Given the description of an element on the screen output the (x, y) to click on. 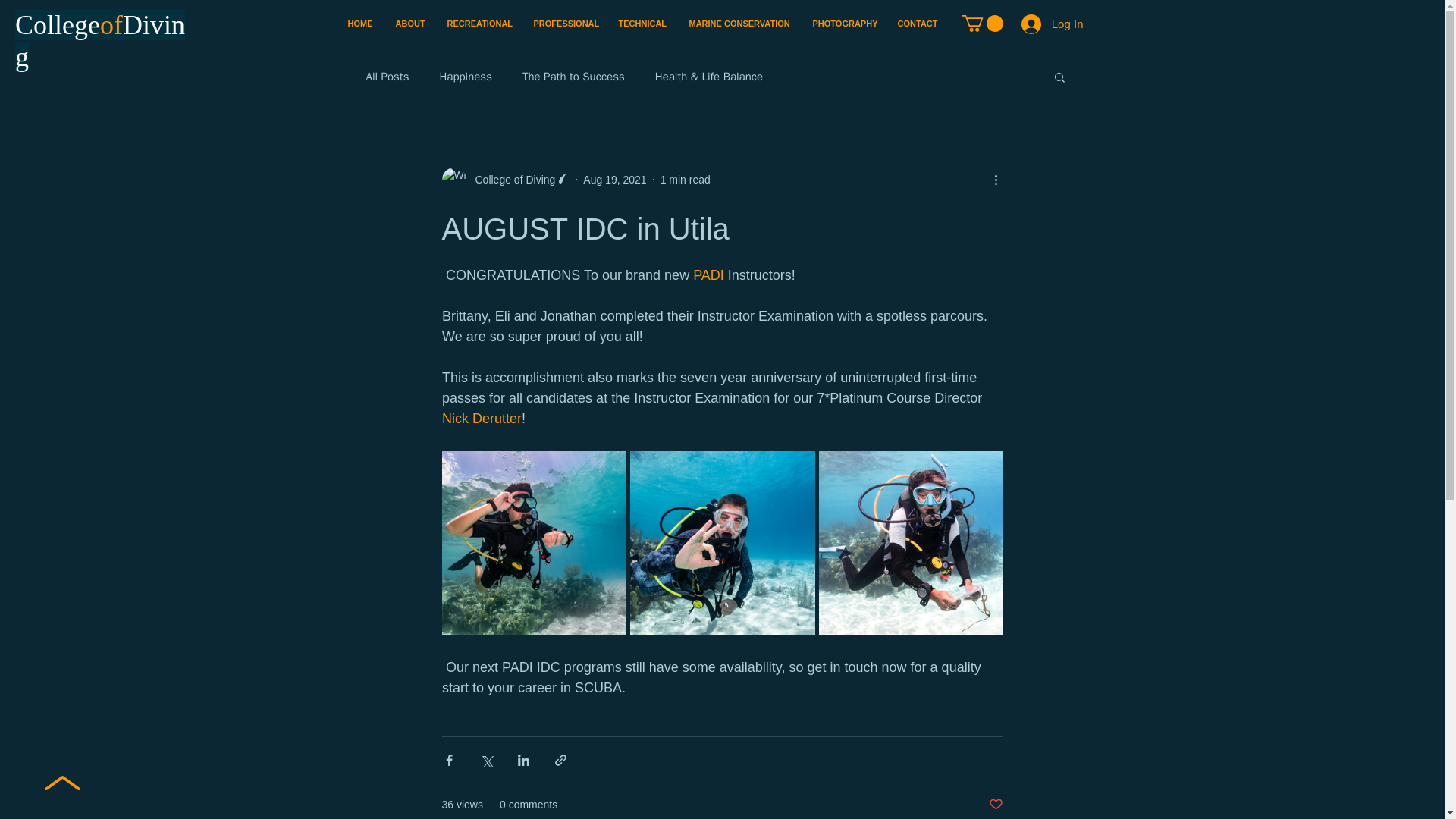
College of Diving (509, 179)
HOME (359, 23)
MARINE CONSERVATION (740, 23)
PROFESSIONAL (564, 23)
Aug 19, 2021 (614, 179)
PHOTOGRAPHY (842, 23)
ABOUT (409, 23)
College (57, 24)
RECREATIONAL (478, 23)
Diving (99, 40)
1 min read (685, 179)
TECHNICAL (642, 23)
